Given the description of an element on the screen output the (x, y) to click on. 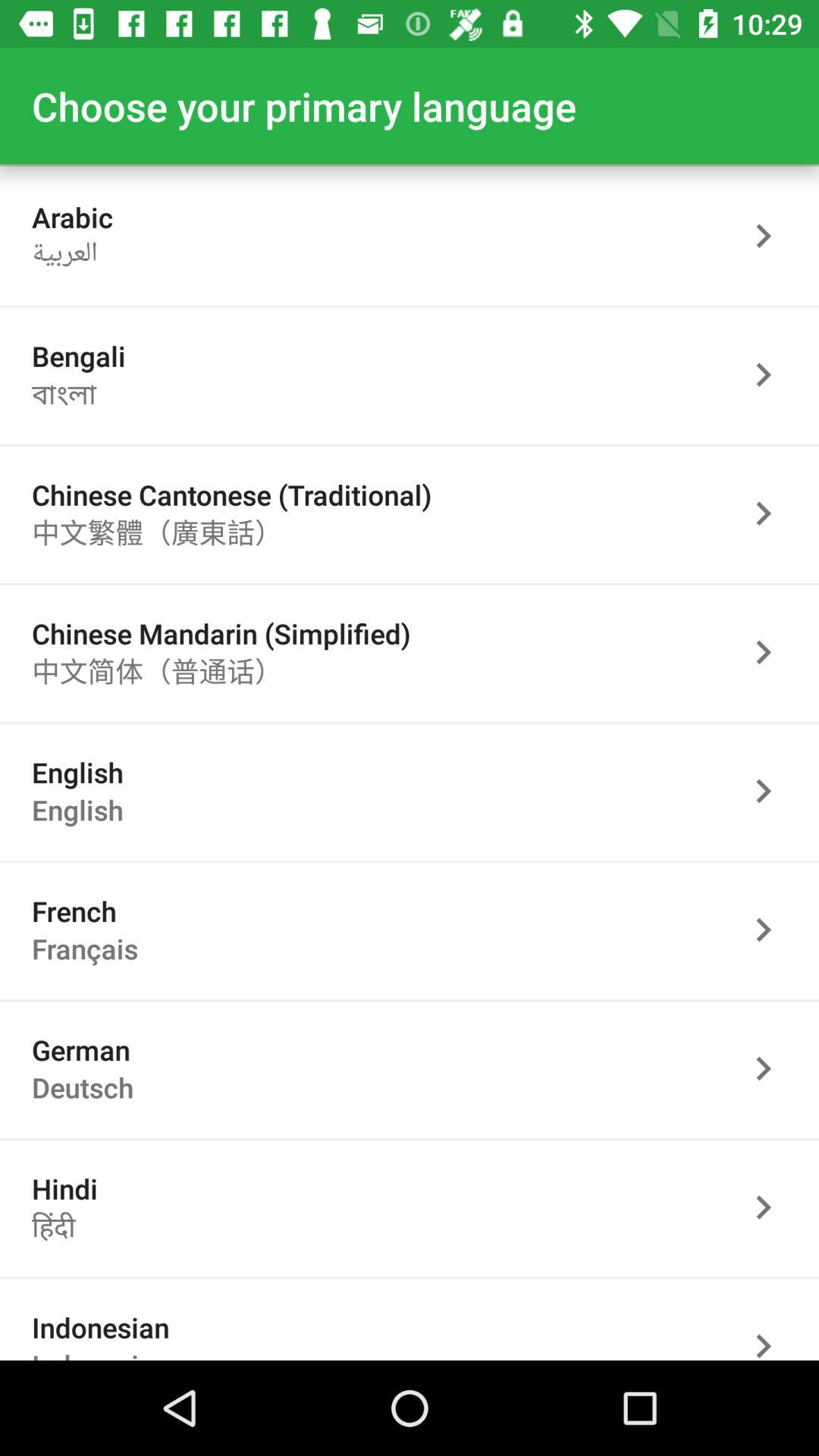
go to back (771, 790)
